Given the description of an element on the screen output the (x, y) to click on. 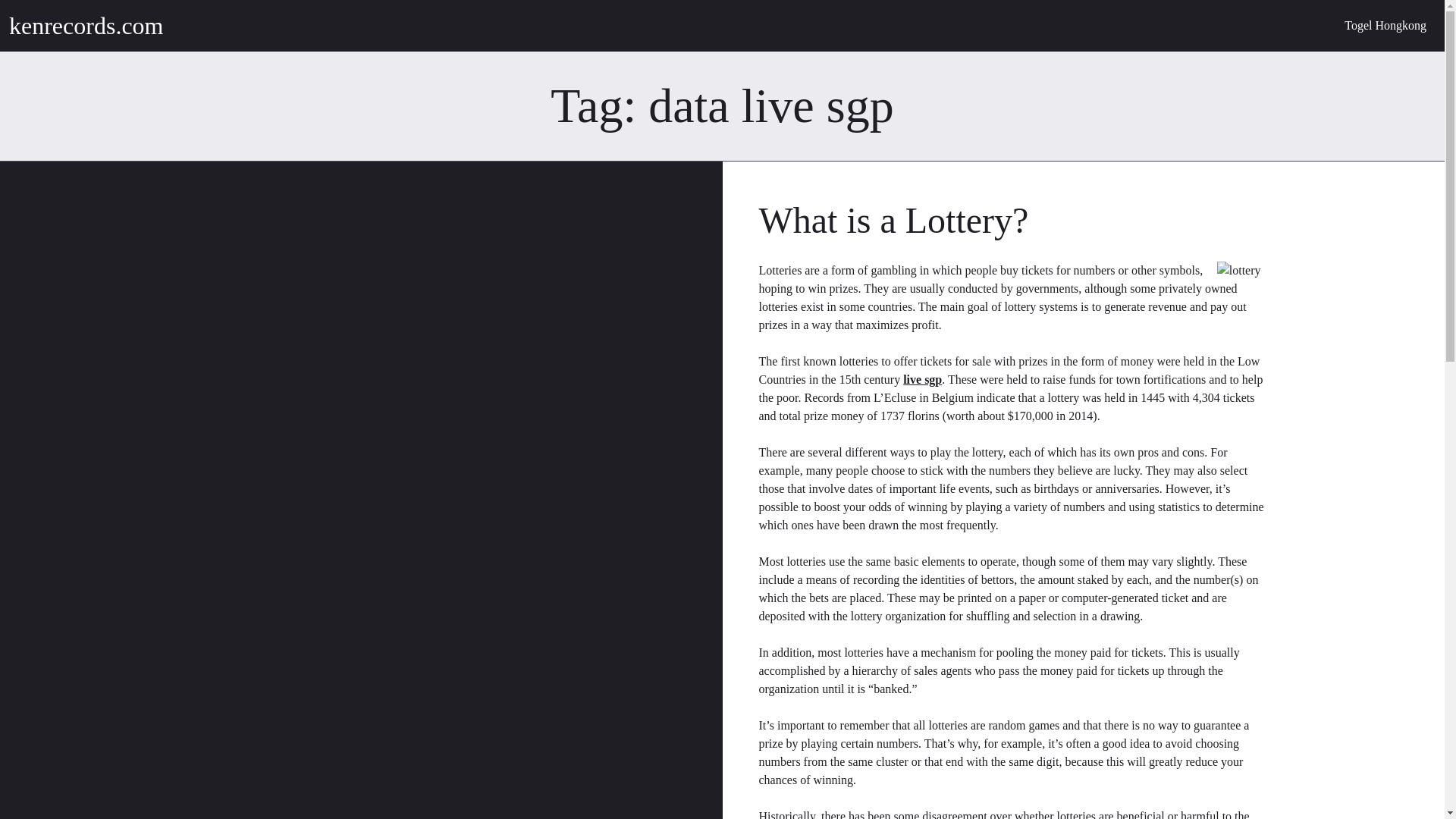
kenrecords.com (85, 25)
live sgp (922, 379)
What is a Lottery? (892, 219)
